Given the description of an element on the screen output the (x, y) to click on. 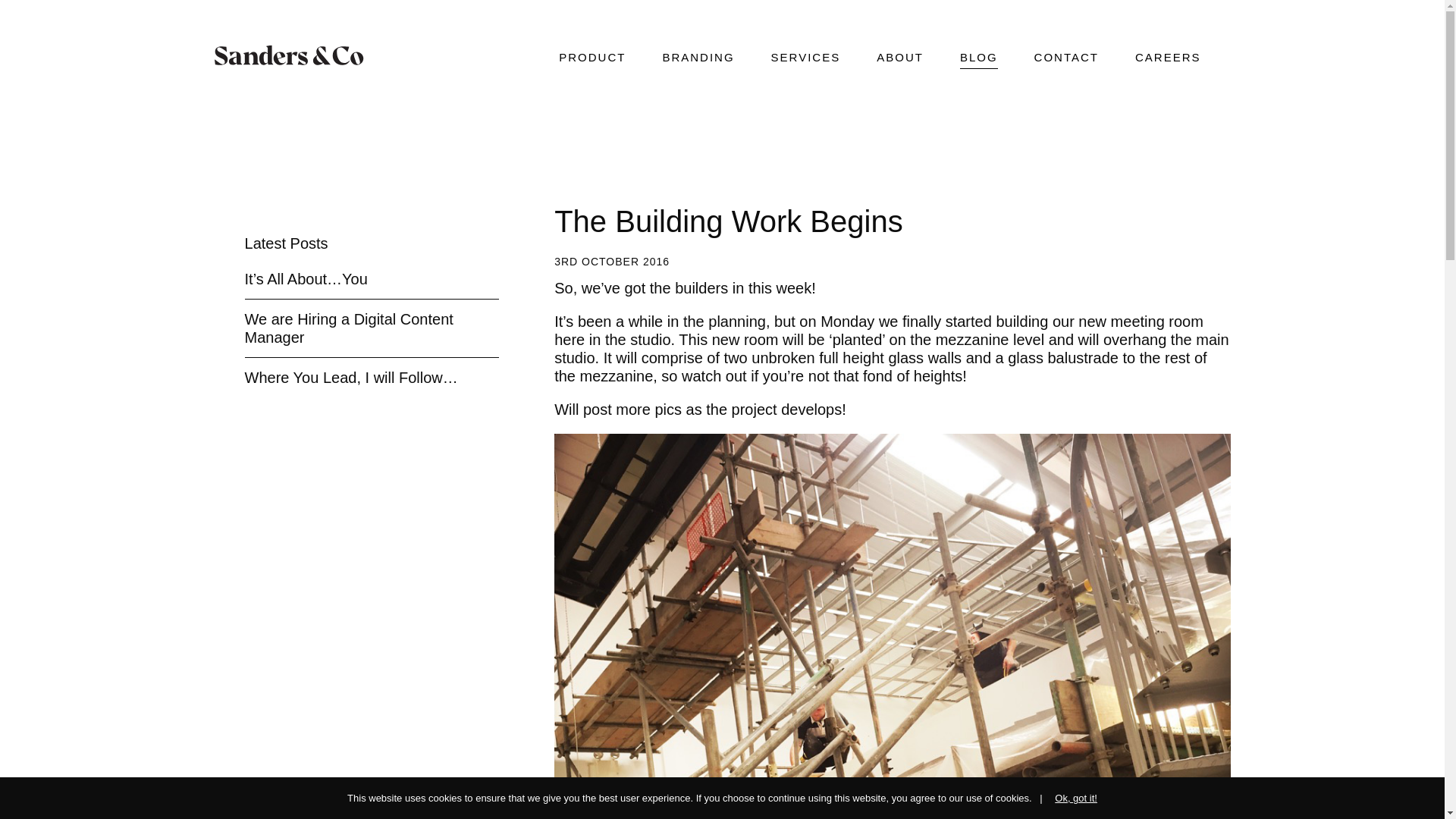
ABOUT (899, 59)
BRANDING (697, 59)
BLOG (978, 59)
CAREERS (1168, 59)
Sanders (291, 55)
We are Hiring a Digital Content Manager (348, 328)
CONTACT (1066, 59)
Ok, got it! (1068, 797)
SERVICES (806, 59)
View - We are Hiring a Digital Content Manager (348, 328)
